Given the description of an element on the screen output the (x, y) to click on. 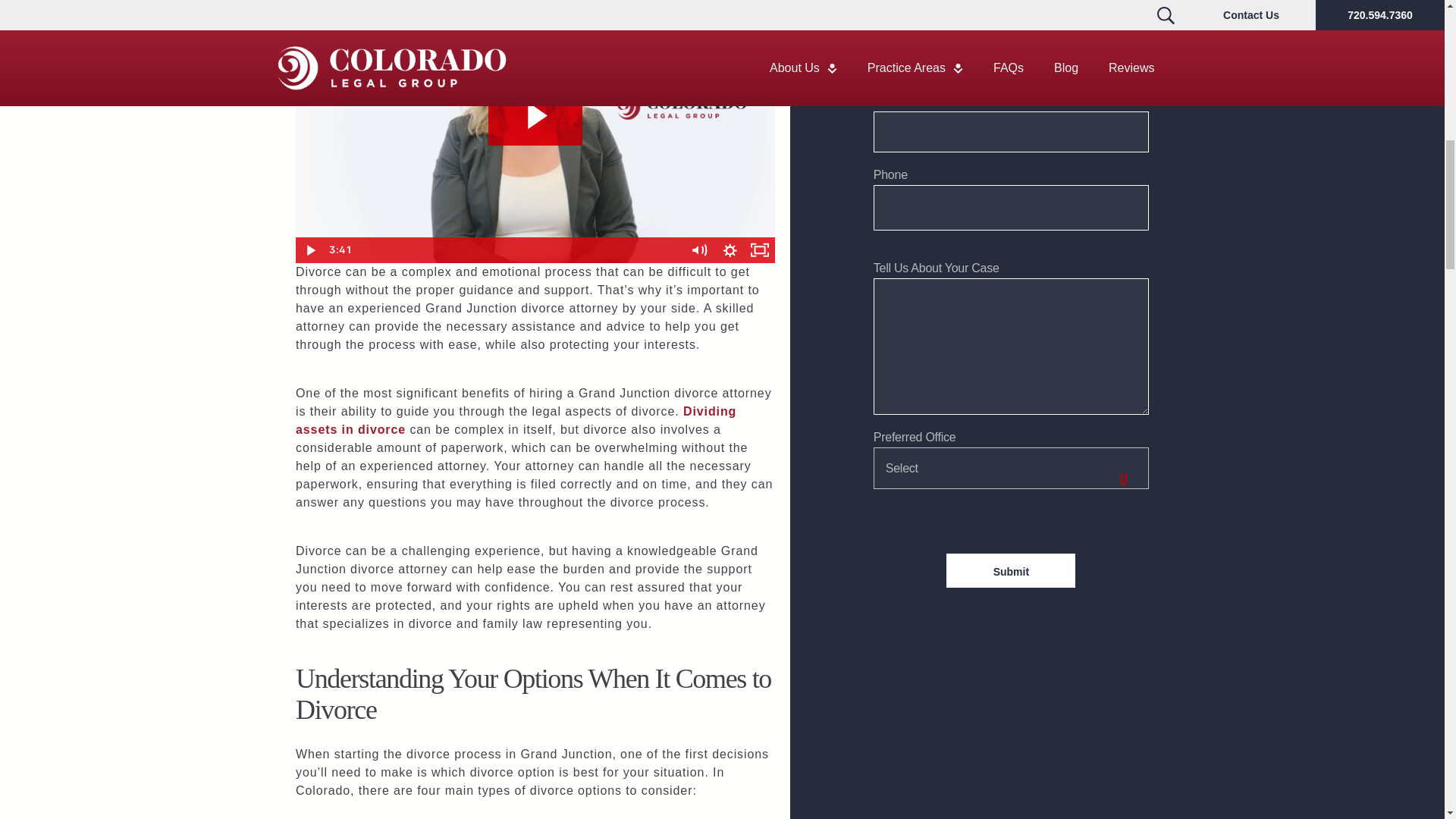
Submit (1010, 570)
Mute (699, 249)
Play Video (309, 249)
Show settings menu (729, 249)
Fullscreen (759, 249)
